Given the description of an element on the screen output the (x, y) to click on. 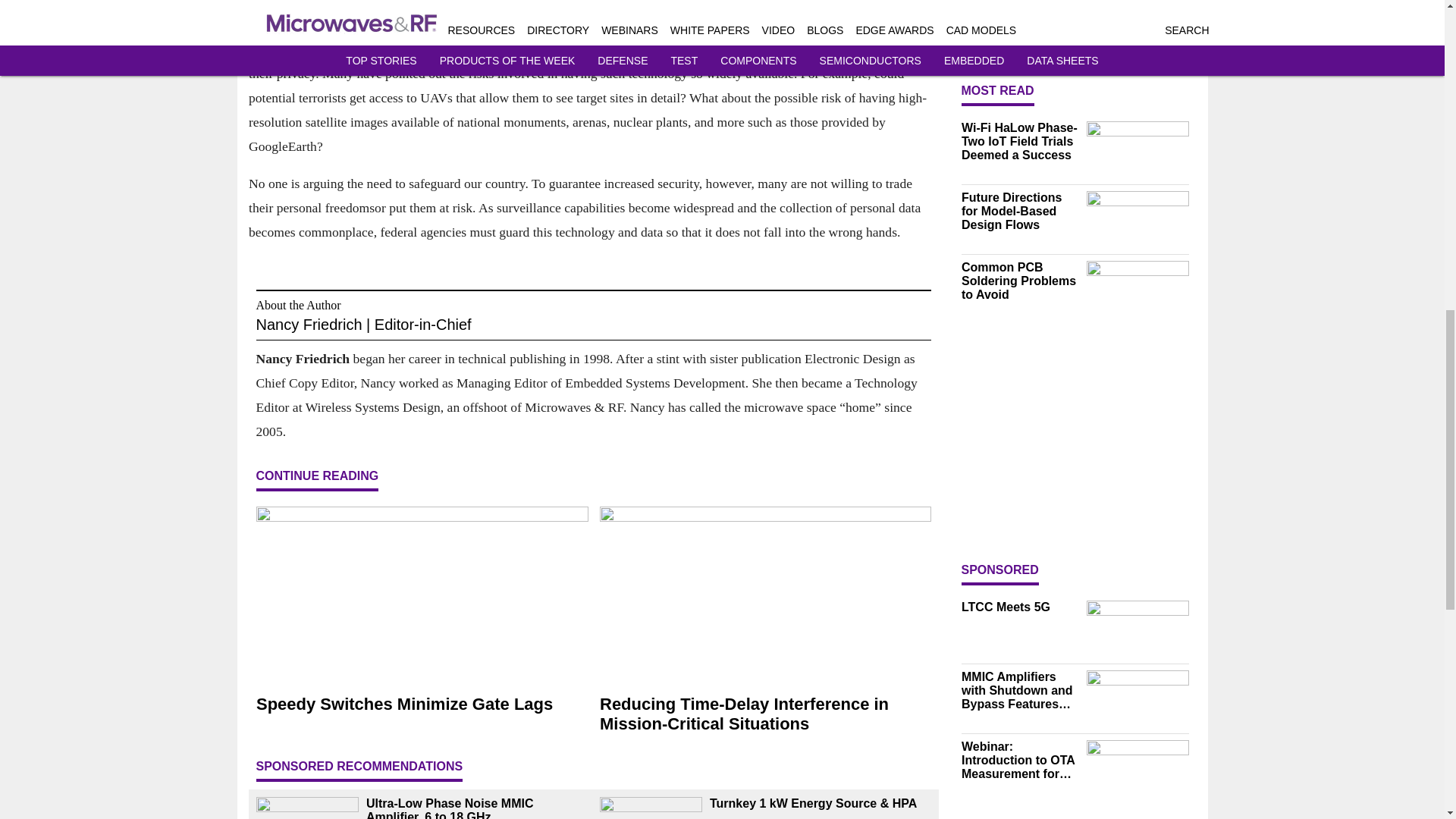
Ultra-Low Phase Noise MMIC Amplifier, 6 to 18 GHz (476, 807)
Speedy Switches Minimize Gate Lags (422, 704)
